Given the description of an element on the screen output the (x, y) to click on. 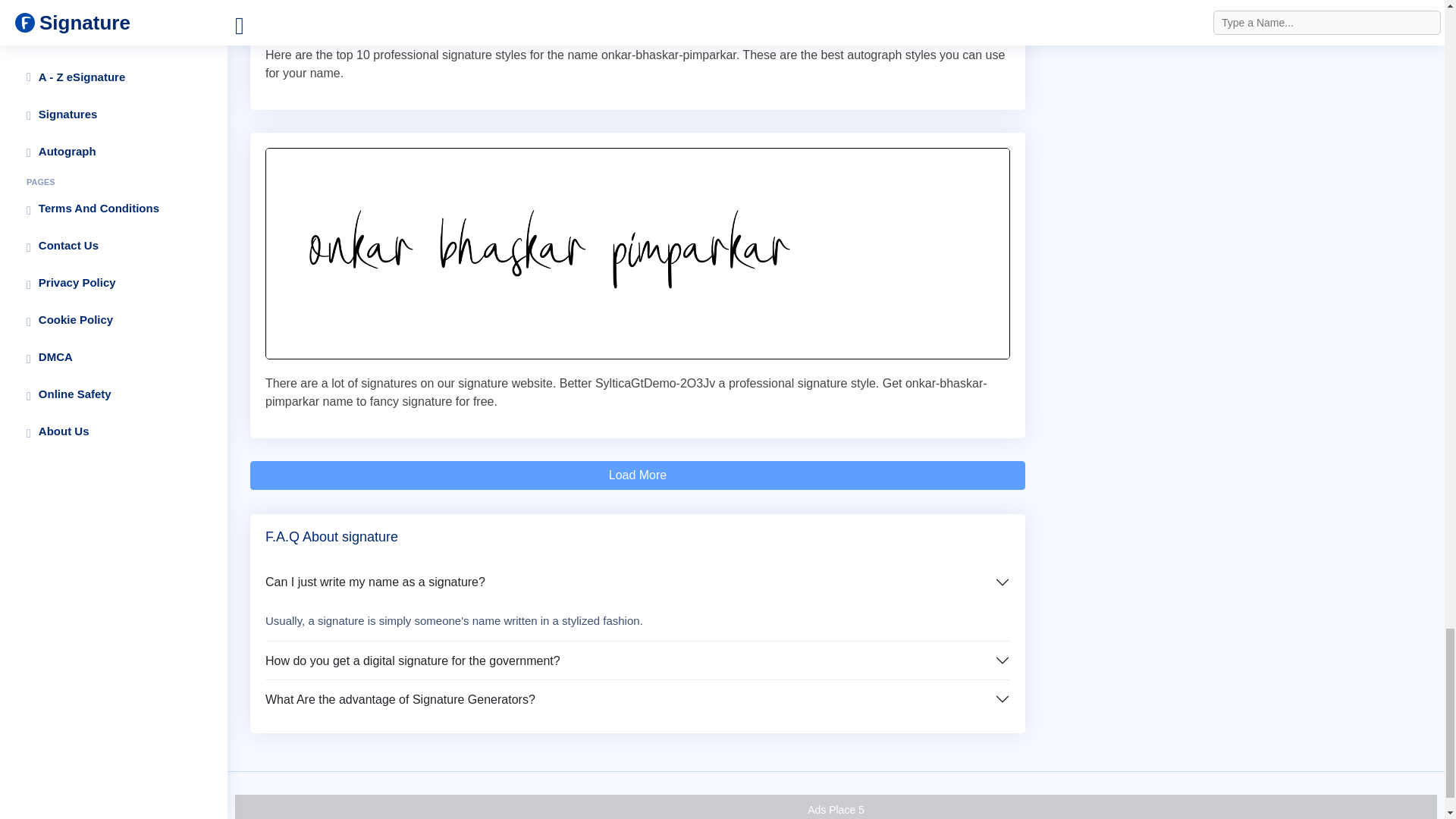
Load More (637, 475)
What Are the advantage of Signature Generators? (637, 699)
Can I just write my name as a signature? (637, 582)
Load more posts (637, 475)
How do you get a digital signature for the government? (637, 660)
